Given the description of an element on the screen output the (x, y) to click on. 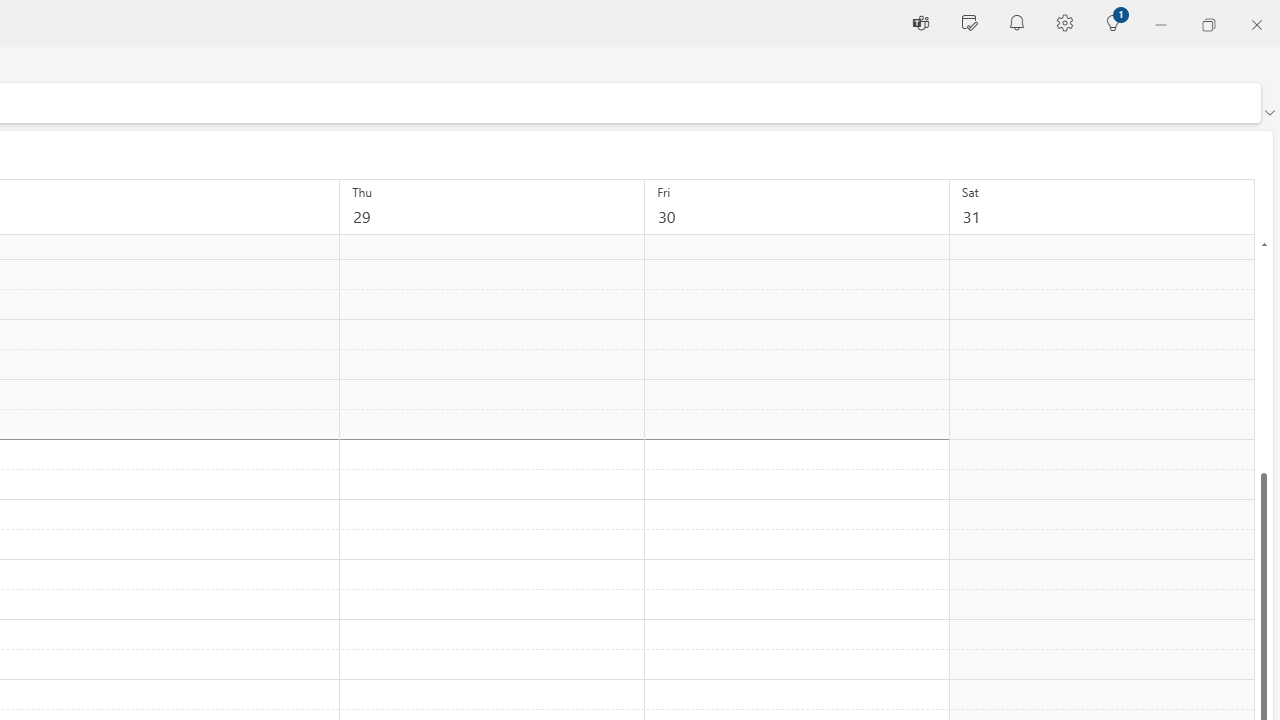
Ribbon display options (1269, 112)
